Given the description of an element on the screen output the (x, y) to click on. 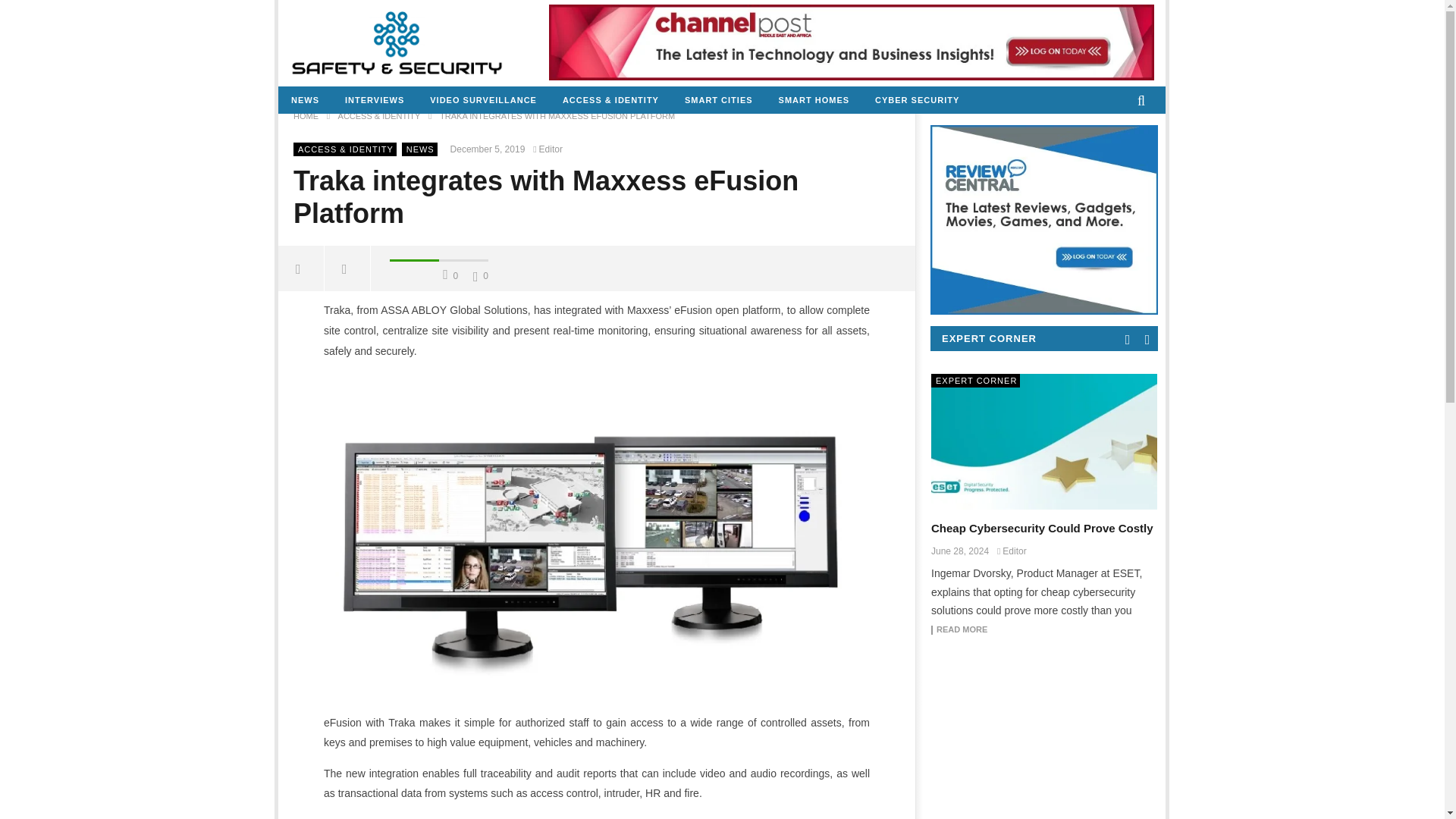
INTERVIEWS (373, 99)
NEWS (304, 99)
NEWS (419, 148)
Posts by Editor (549, 148)
SMART HOMES (814, 99)
View all posts in News (419, 148)
SMART CITIES (718, 99)
CYBER SECURITY (916, 99)
HOME (306, 115)
search (1125, 126)
Editor (549, 148)
VIDEO SURVEILLANCE (483, 99)
SNS Mideast (396, 42)
